Given the description of an element on the screen output the (x, y) to click on. 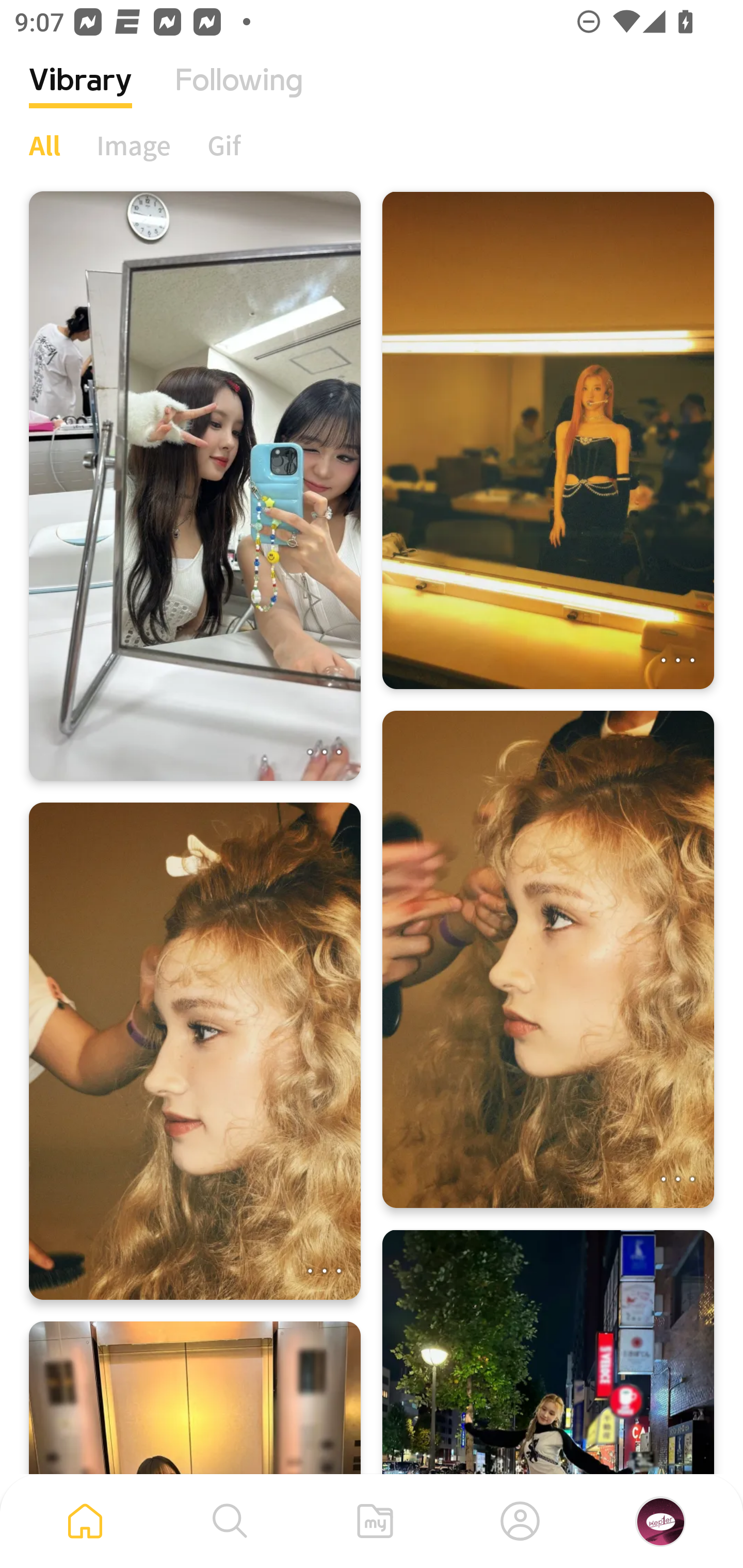
Vibrary (80, 95)
Following (239, 95)
All (44, 145)
Image (133, 145)
Gif (223, 145)
